Given the description of an element on the screen output the (x, y) to click on. 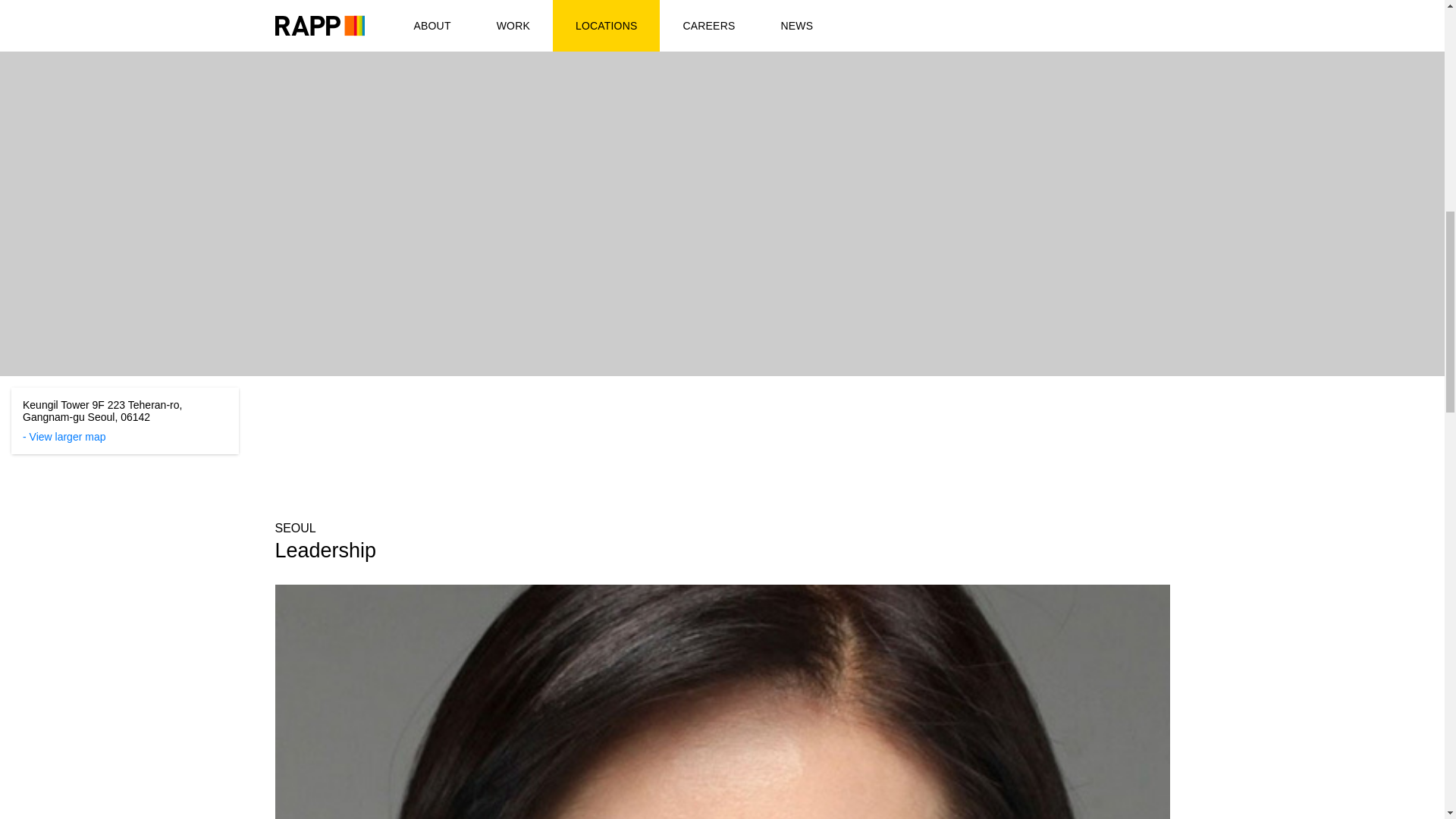
- View larger map (63, 436)
